Given the description of an element on the screen output the (x, y) to click on. 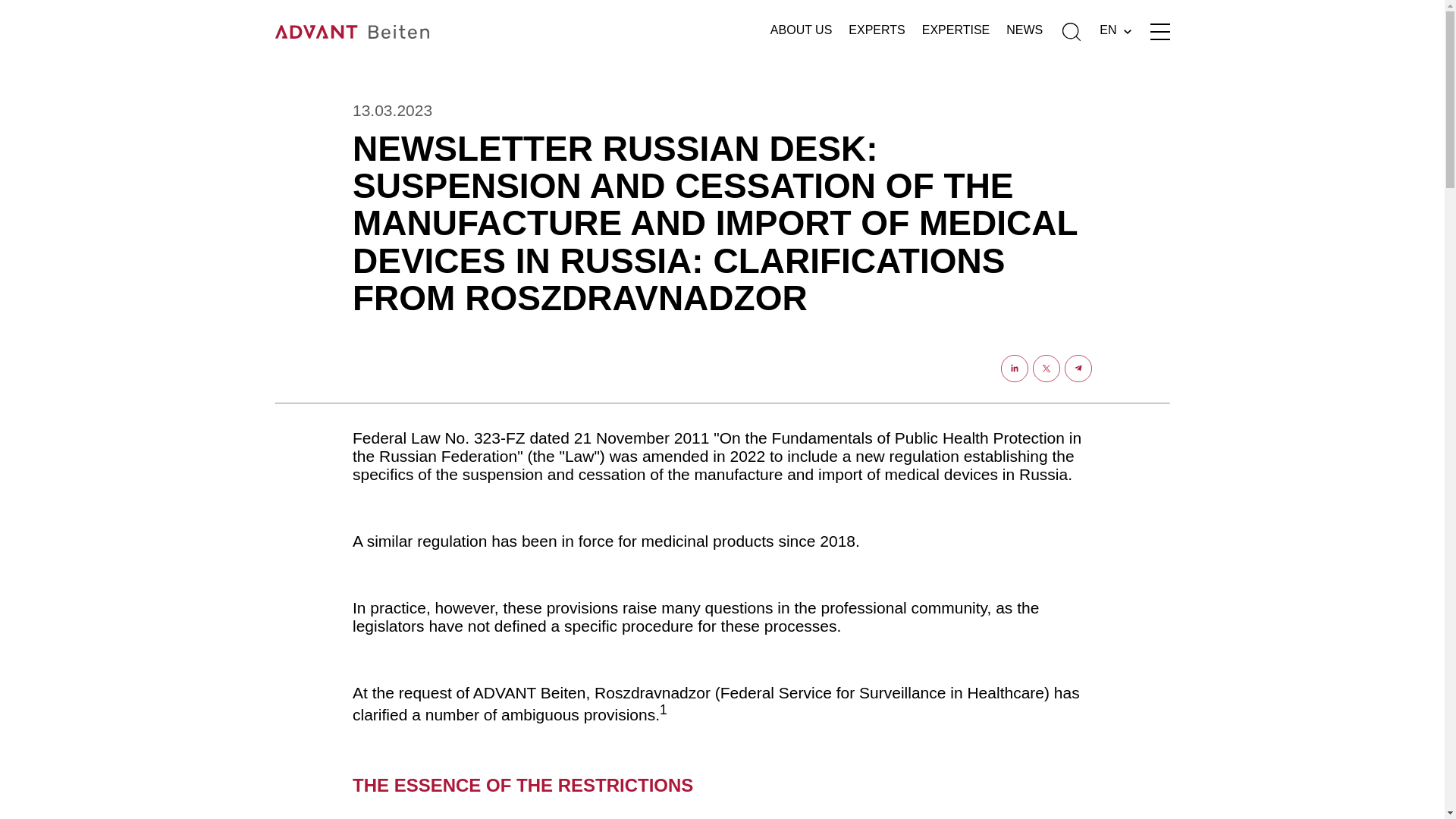
EXPERTS (876, 31)
EN (1115, 31)
English (1115, 31)
EXPERTISE (955, 31)
ABOUT US (801, 31)
NEWS (1024, 31)
